Given the description of an element on the screen output the (x, y) to click on. 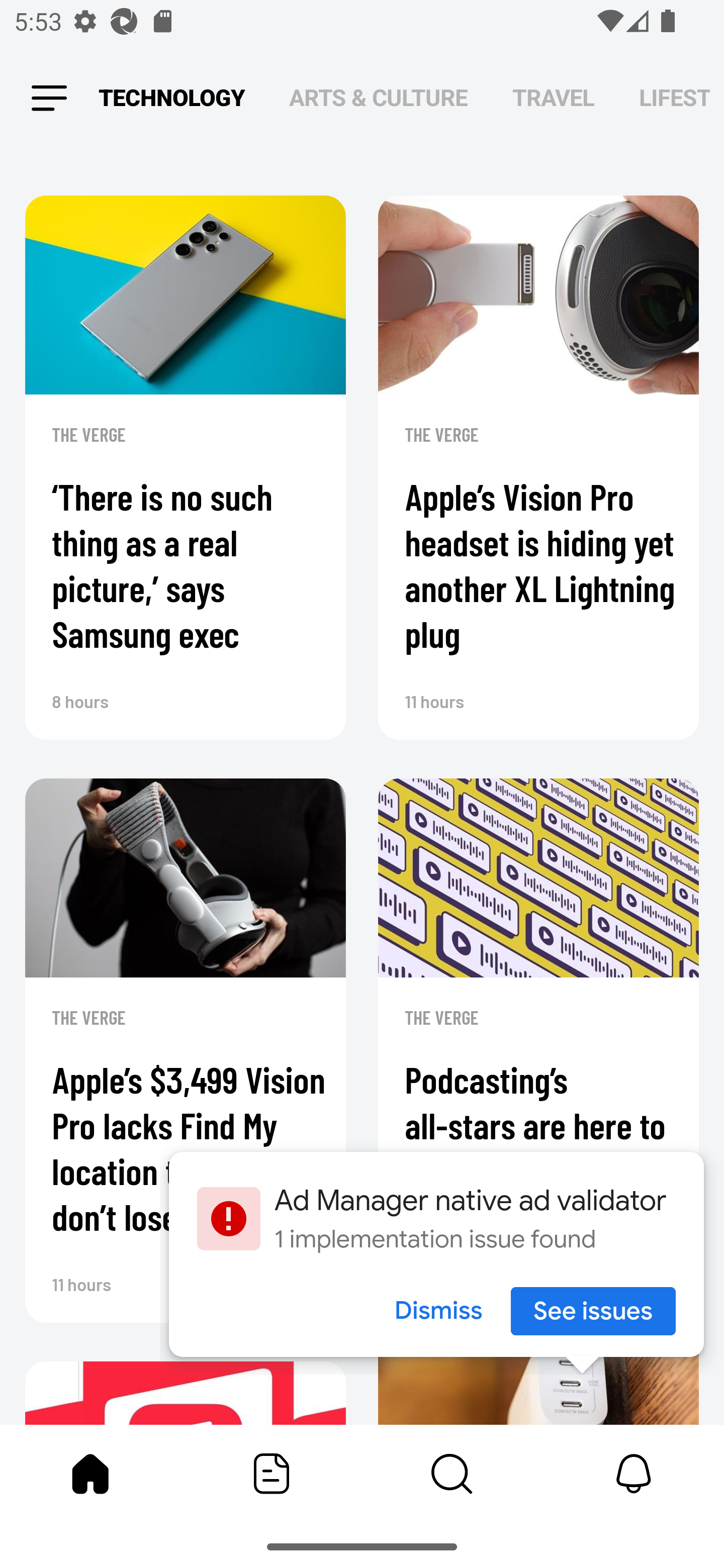
Leading Icon (49, 98)
ARTS & CULTURE (378, 97)
TRAVEL (553, 97)
LIFESTYLE (674, 97)
Featured (271, 1473)
Content Store (452, 1473)
Notifications (633, 1473)
